Given the description of an element on the screen output the (x, y) to click on. 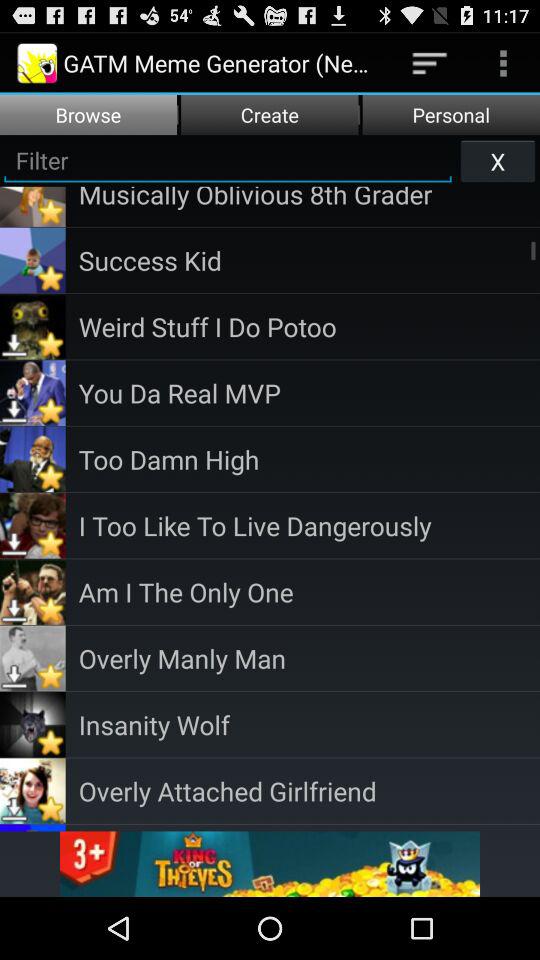
view advertisement (270, 864)
